Given the description of an element on the screen output the (x, y) to click on. 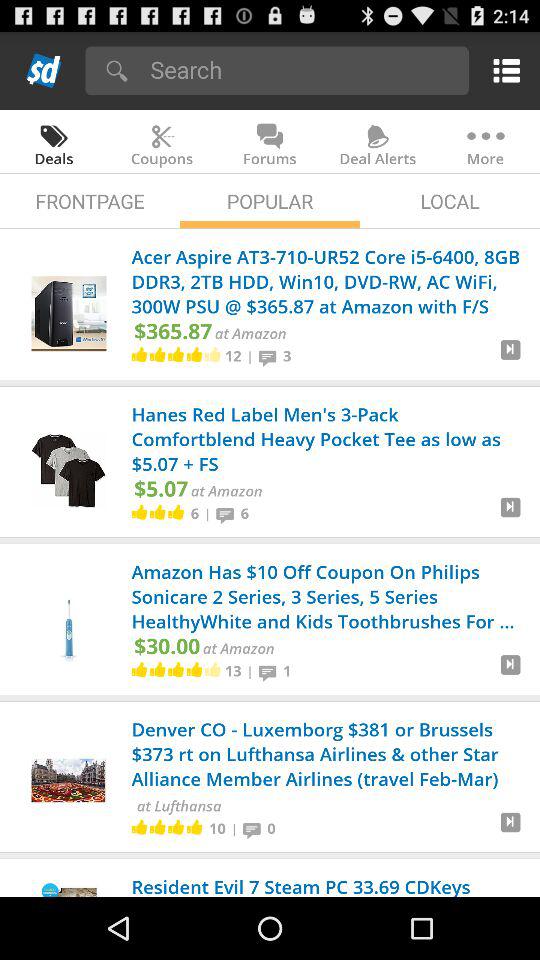
select to view (510, 515)
